Given the description of an element on the screen output the (x, y) to click on. 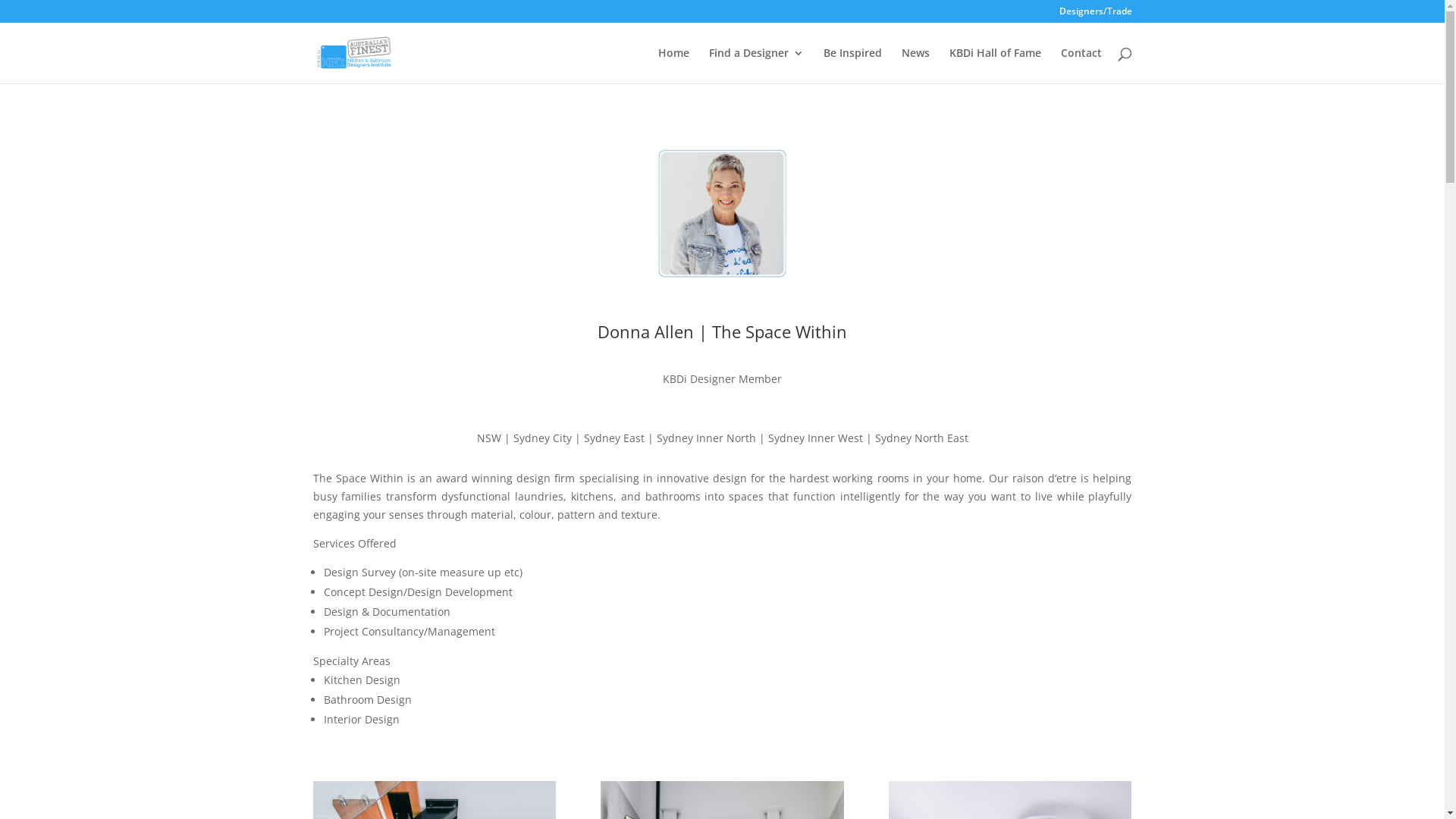
KBDi Hall of Fame Element type: text (995, 65)
KBDi_Donna Allen_Headshot Element type: hover (721, 213)
Designers/Trade Element type: text (1094, 14)
Contact Element type: text (1080, 65)
Home Element type: text (673, 65)
Find a Designer Element type: text (755, 65)
News Element type: text (914, 65)
Be Inspired Element type: text (852, 65)
